Given the description of an element on the screen output the (x, y) to click on. 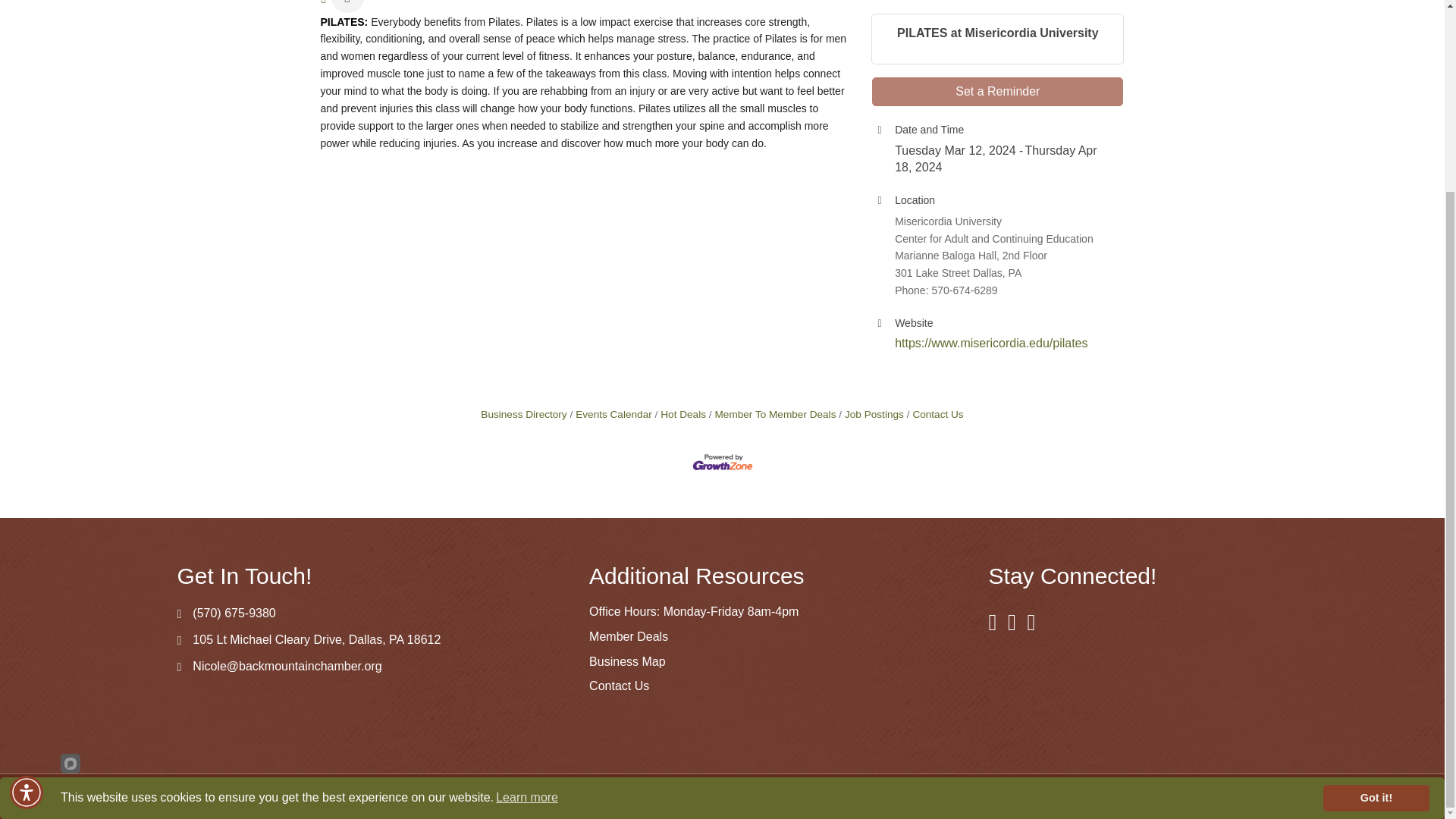
Accessibility Menu (26, 551)
